Given the description of an element on the screen output the (x, y) to click on. 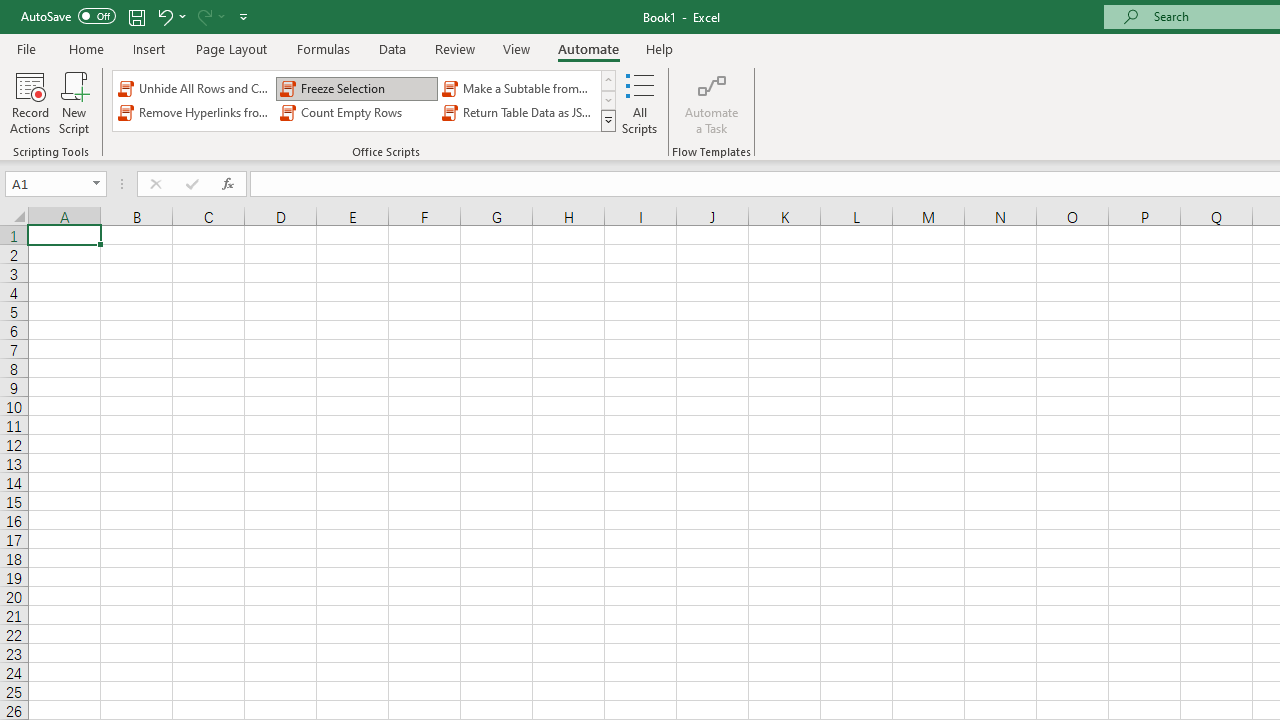
Remove Hyperlinks from Sheet (194, 112)
Automate a Task (712, 102)
New Script (73, 102)
Count Empty Rows (356, 112)
